Given the description of an element on the screen output the (x, y) to click on. 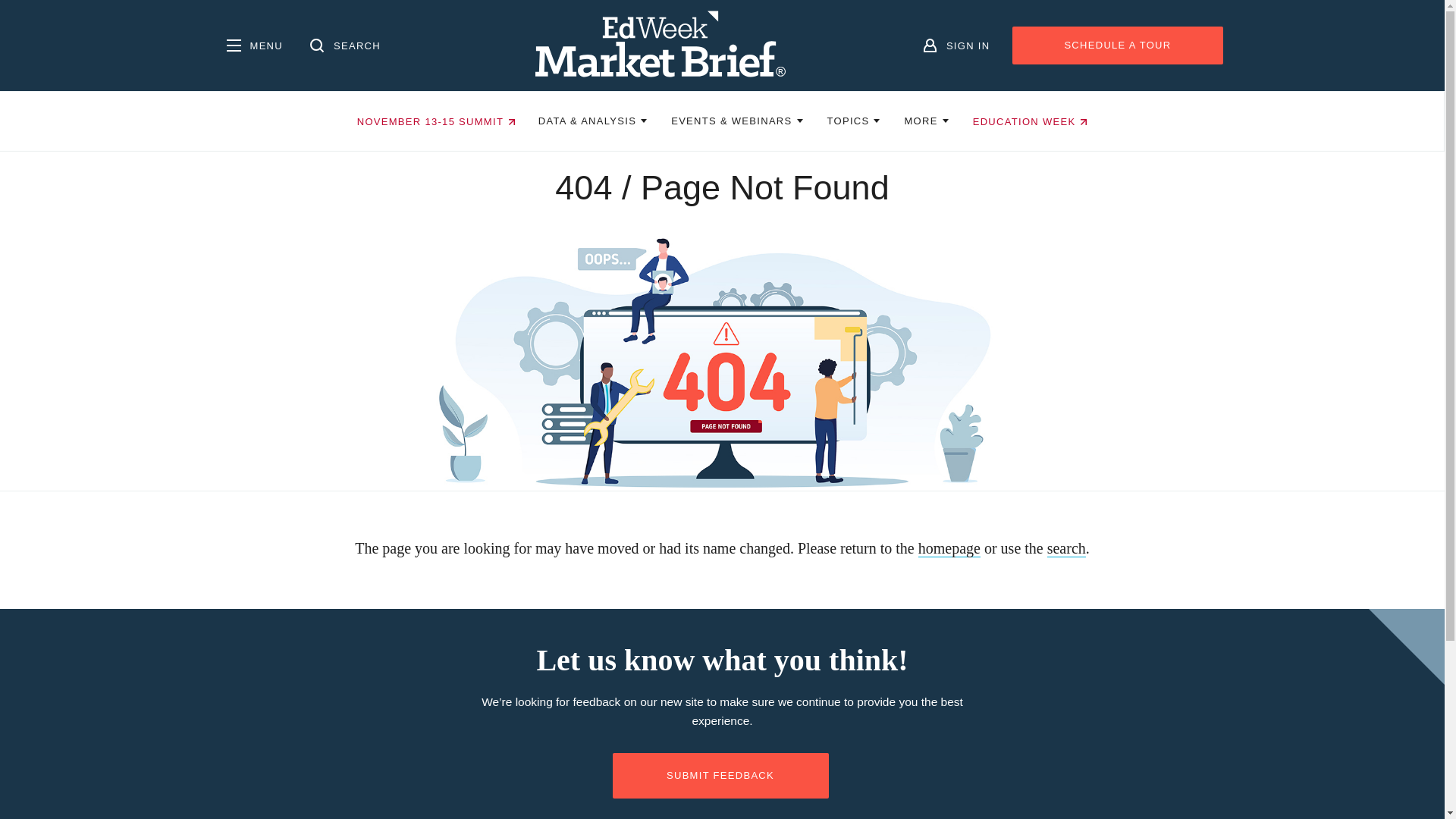
SCHEDULE A TOUR (1117, 45)
SIGN IN (954, 45)
MENU (251, 45)
SEARCH (342, 45)
Homepage (660, 45)
